Given the description of an element on the screen output the (x, y) to click on. 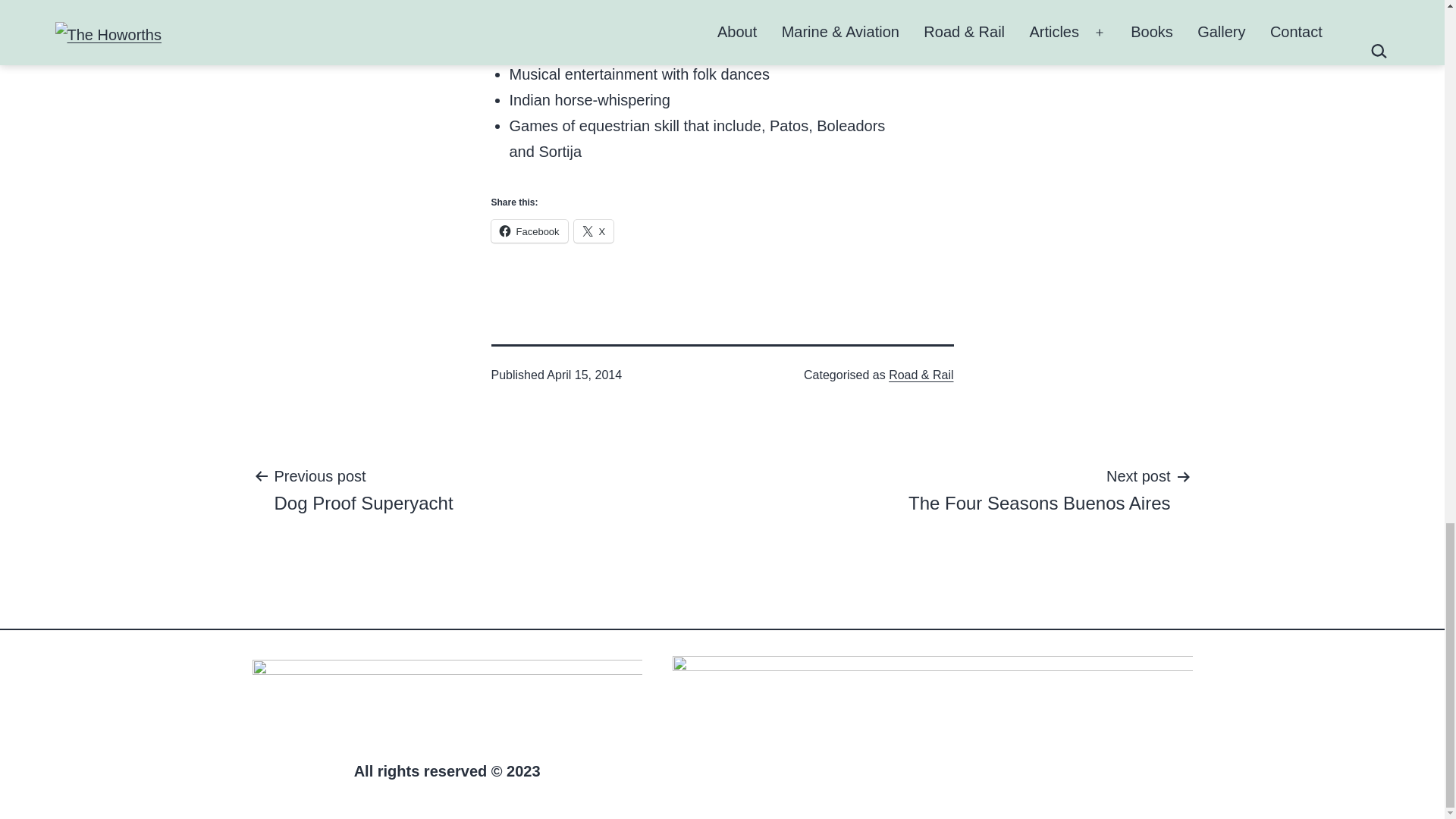
Click to share on X (362, 489)
Facebook (593, 231)
Click to share on Facebook (1039, 489)
X (529, 231)
